Given the description of an element on the screen output the (x, y) to click on. 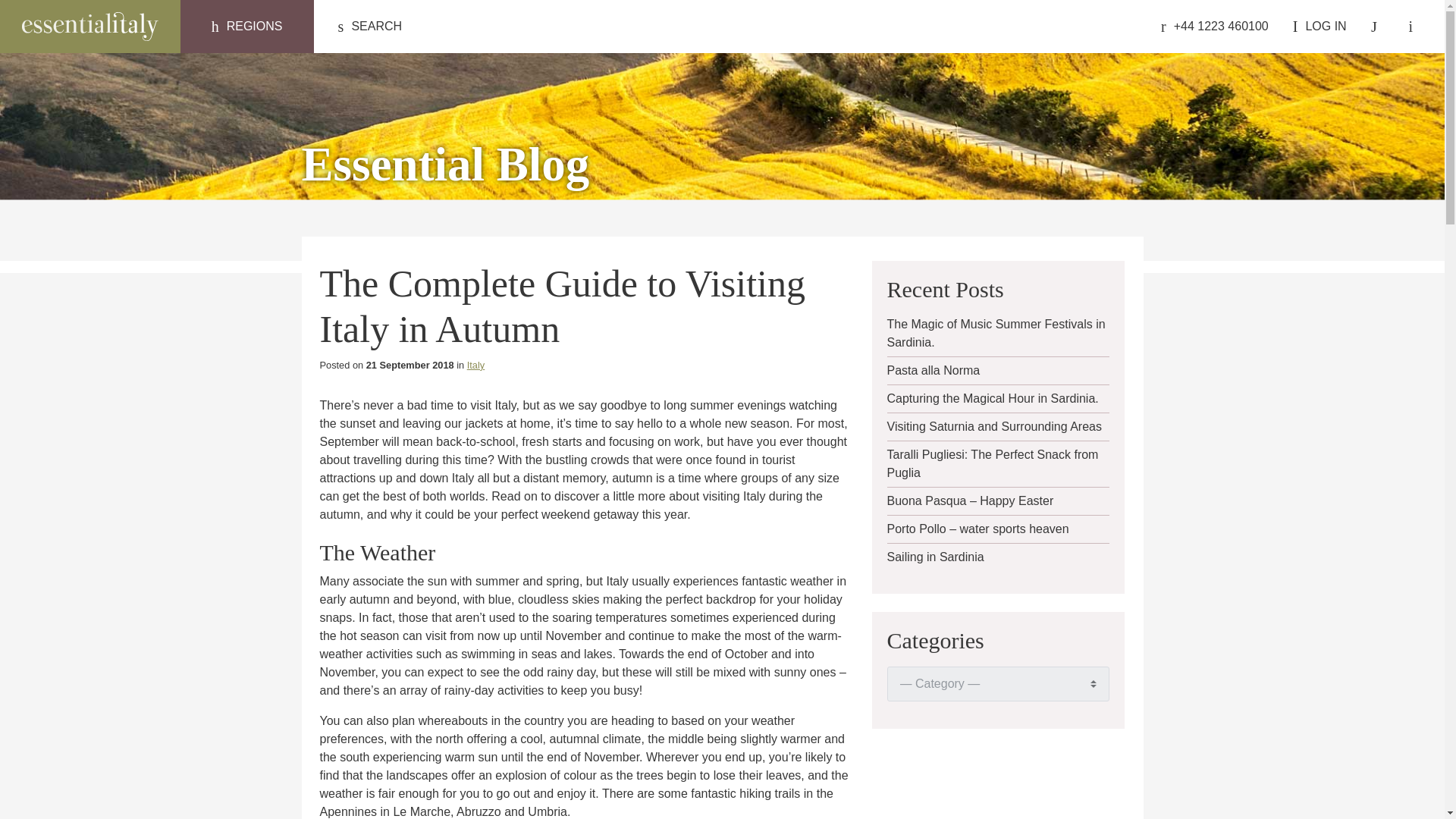
LOG IN (1319, 26)
SEARCH (369, 26)
REGIONS (247, 26)
